Given the description of an element on the screen output the (x, y) to click on. 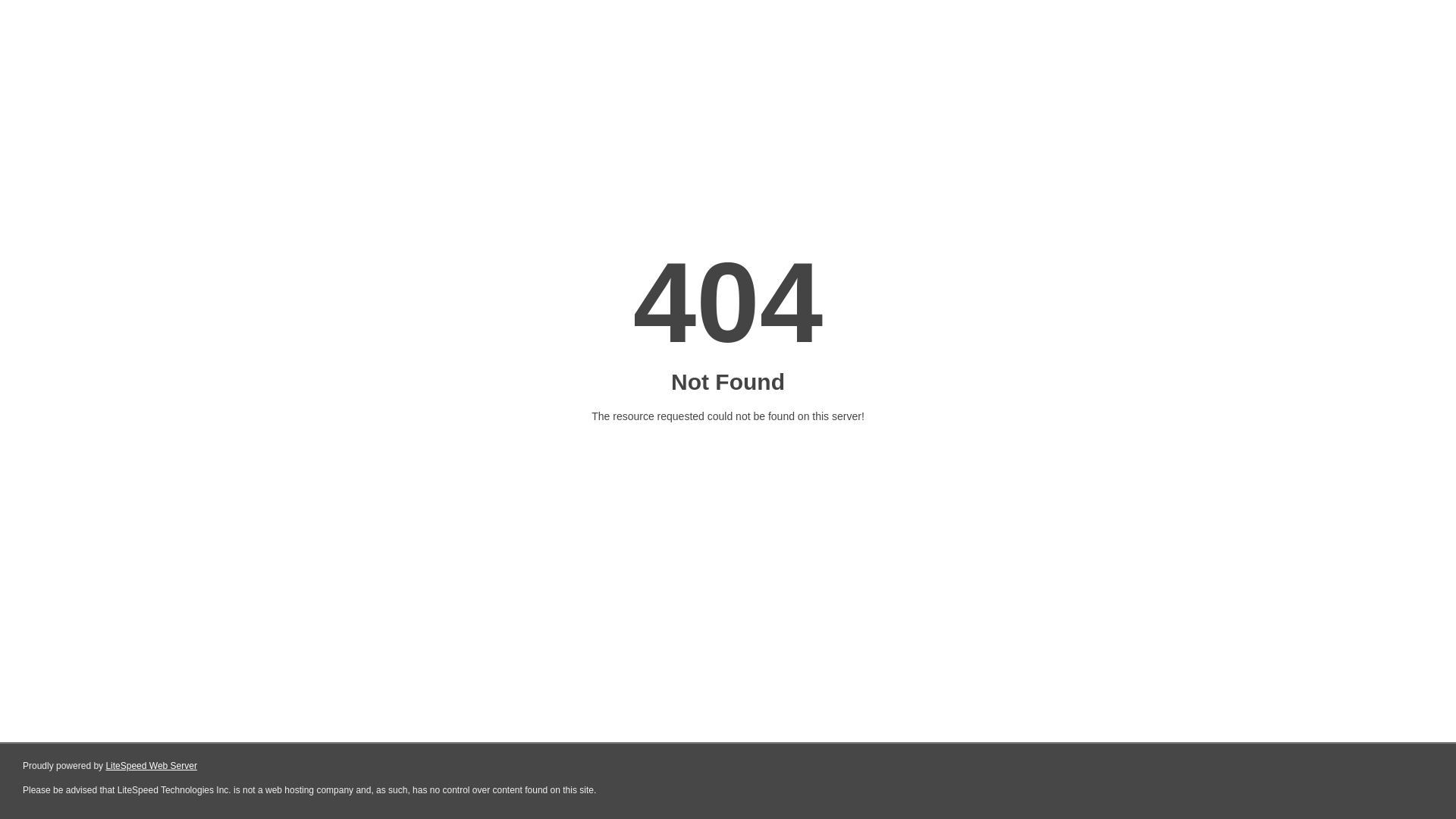
LiteSpeed Web Server Element type: text (151, 765)
